Given the description of an element on the screen output the (x, y) to click on. 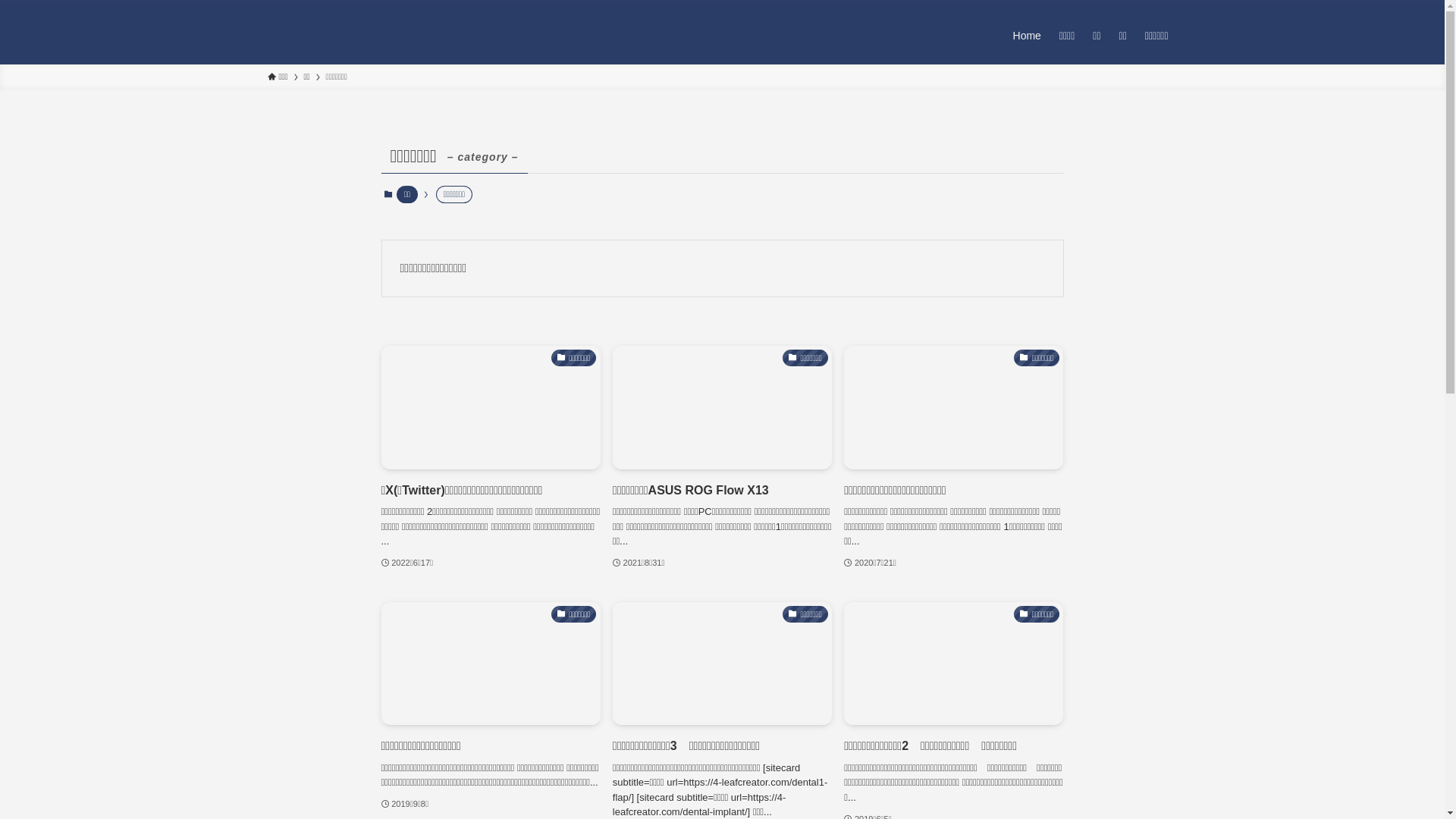
Home Element type: text (1027, 35)
4-leaf creator Element type: hover (341, 35)
